Given the description of an element on the screen output the (x, y) to click on. 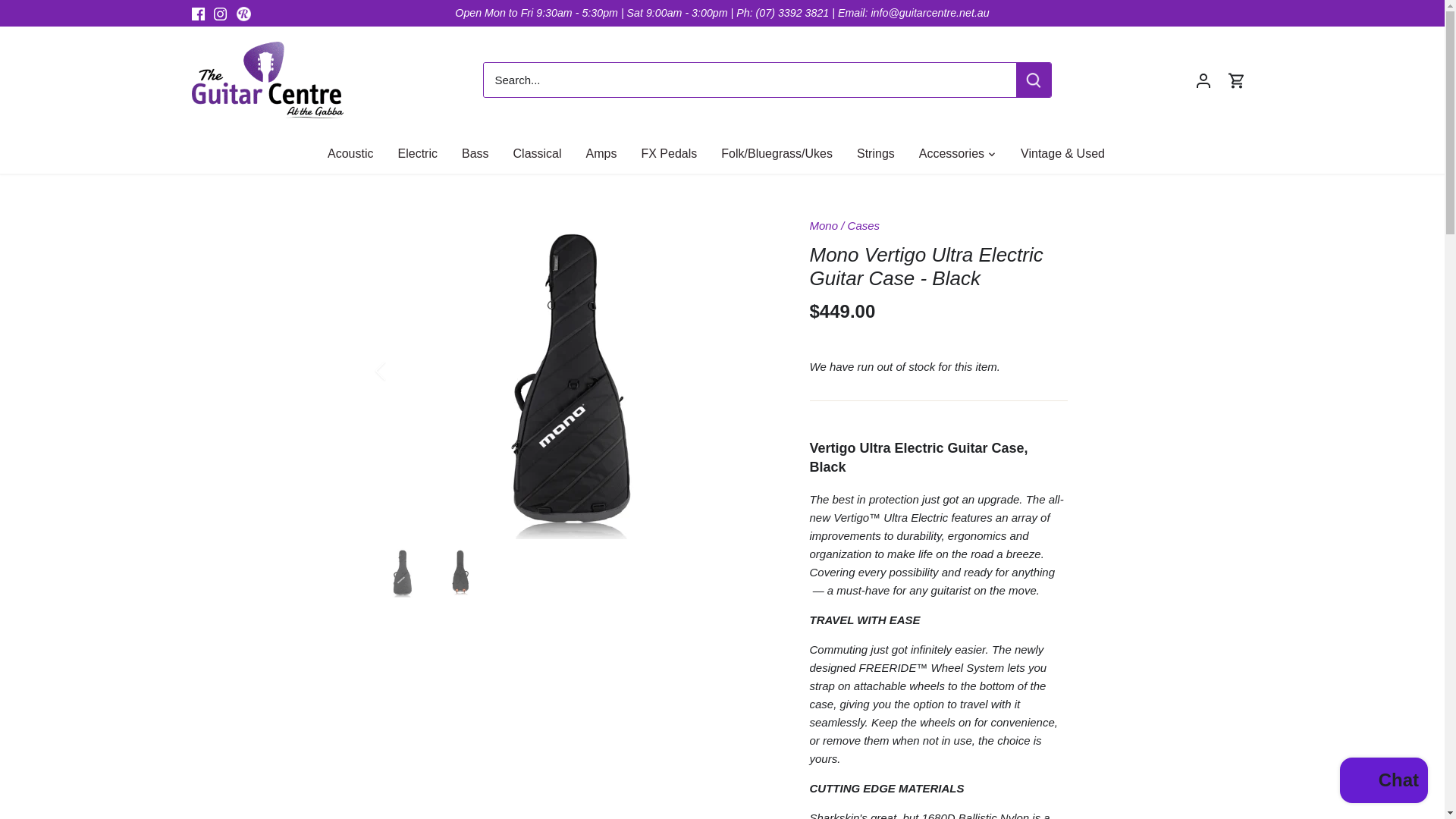
FX Pedals (668, 153)
Accessories (951, 153)
Instagram (220, 13)
Facebook (196, 13)
Amps (600, 153)
Strings (875, 153)
Shopify online store chat (1383, 781)
Bass (474, 153)
Classical (536, 153)
Electric (417, 153)
